Given the description of an element on the screen output the (x, y) to click on. 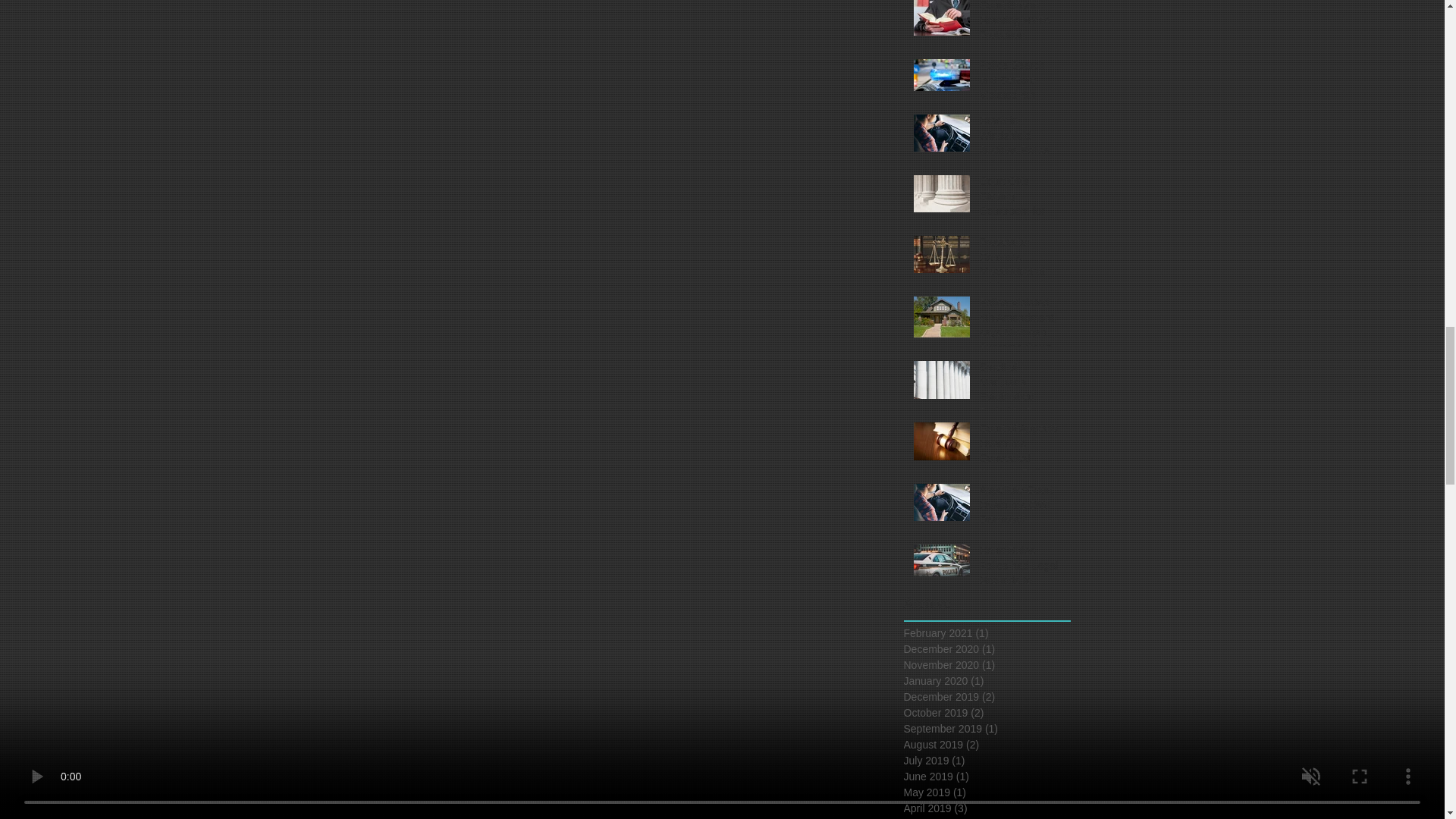
Court OKs Closing Courtroom for HYTA Case (1020, 206)
Prosecutor Commits Misconduct at Trial (1020, 267)
Appellate Court Overturns OWI Dismissal (1020, 508)
Smell of Marijuana Established Probable Cause Before New Law (1020, 400)
Court of Appeals Overturns Concealed Weapon Ruling (1020, 453)
Police Search and Seizure Violated 4th Amendment (1020, 90)
Court Rules Police had Legal Grounds to Investigate (1020, 576)
Crack in Windshield Justifies Police Seizure (1020, 146)
Court Errs in Granting HYTA Probation (1020, 24)
Police Violated 4th Amendment, says Michigan Supreme Court (1020, 328)
